Given the description of an element on the screen output the (x, y) to click on. 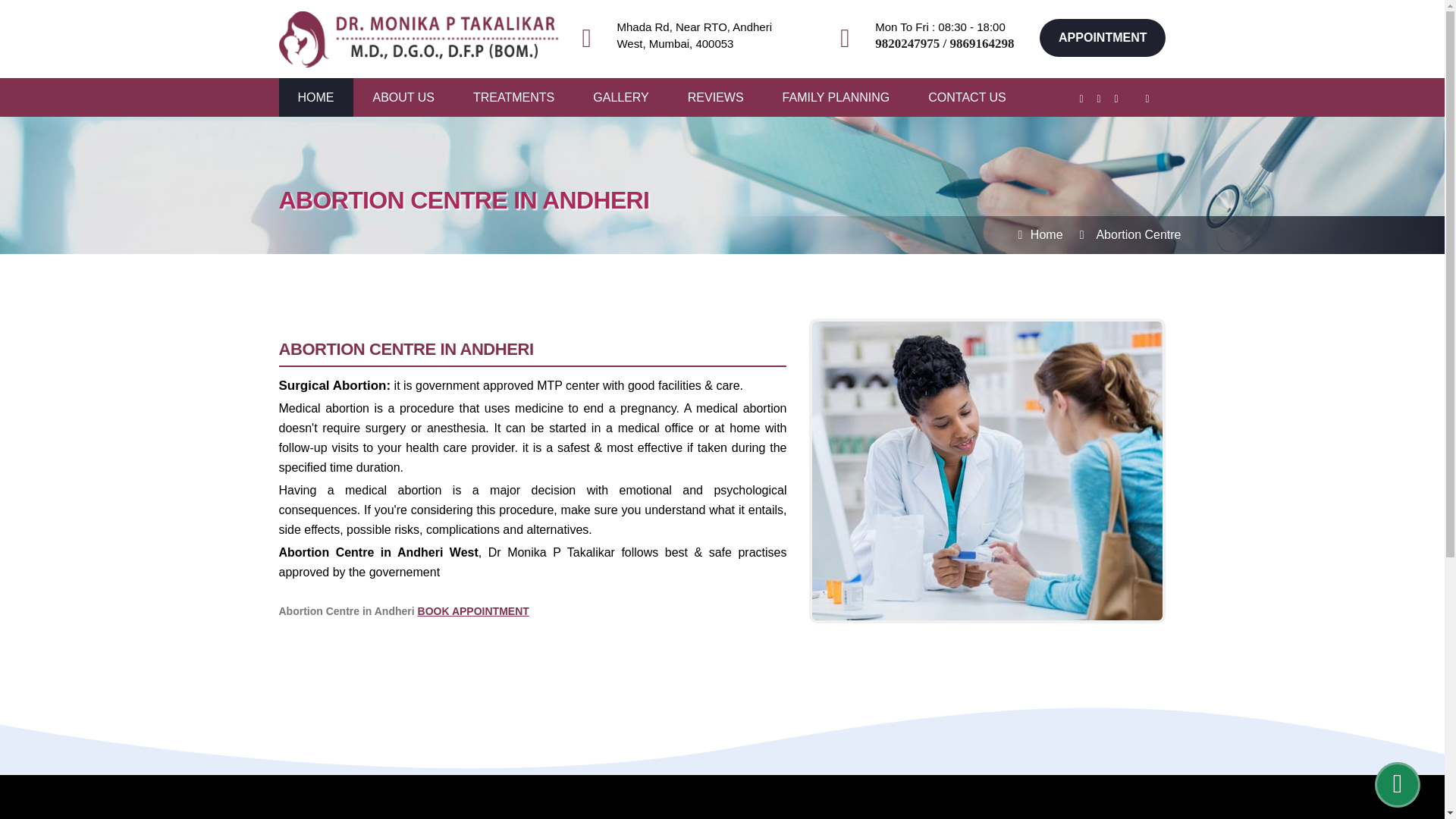
FAMILY PLANNING (836, 97)
TREATMENTS (513, 97)
GALLERY (620, 97)
REVIEWS (715, 97)
HOME (315, 97)
CONTACT US (967, 97)
ABOUT US (403, 97)
APPOINTMENT (1102, 37)
